Given the description of an element on the screen output the (x, y) to click on. 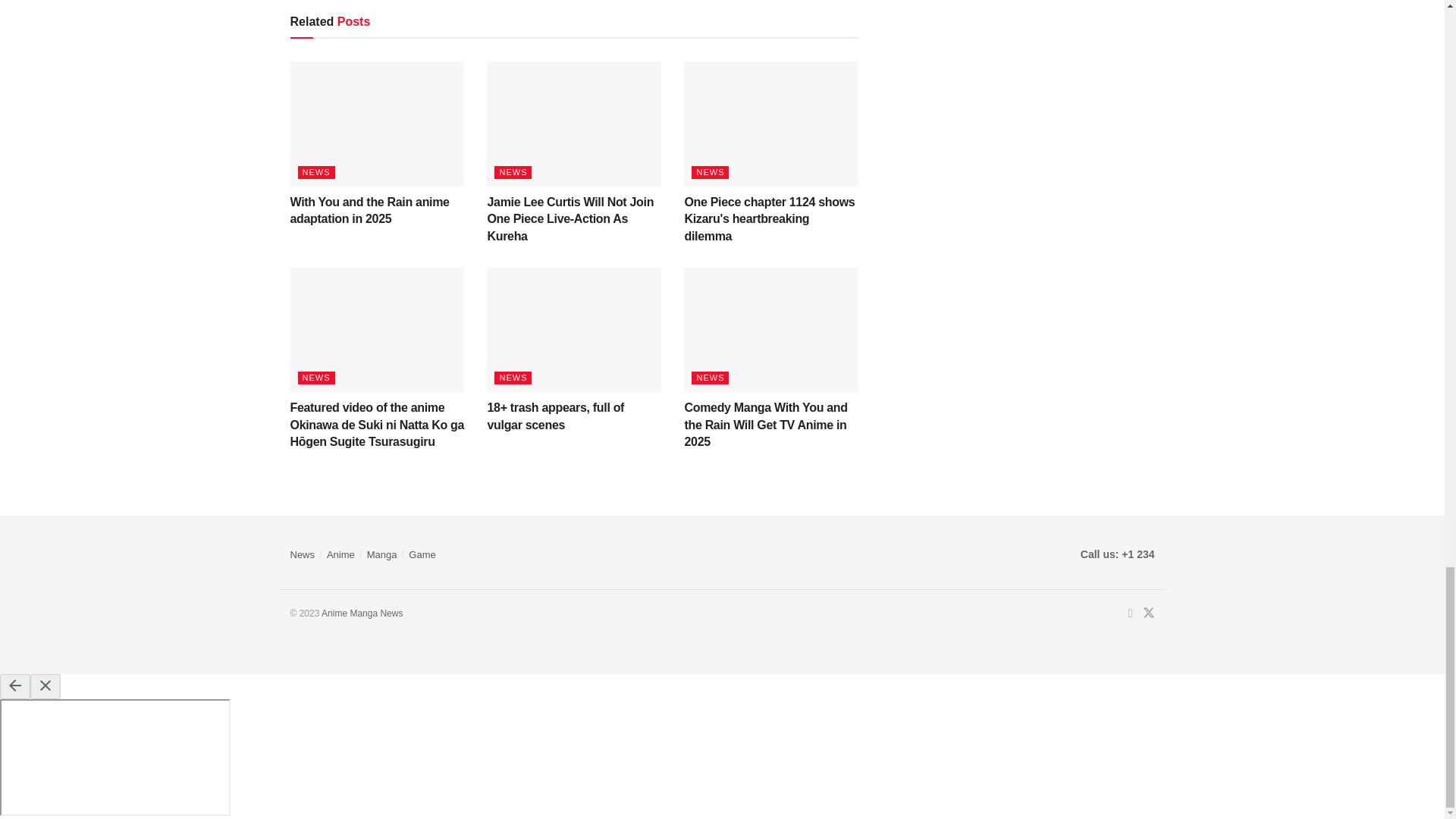
NEWS (315, 172)
With You and the Rain anime adaptation in 2025 (368, 210)
NEWS (315, 377)
NEWS (513, 377)
NEWS (710, 172)
One Piece chapter 1124 shows Kizaru's heartbreaking dilemma (769, 218)
NEWS (513, 172)
Anime Manga News (362, 613)
